Given the description of an element on the screen output the (x, y) to click on. 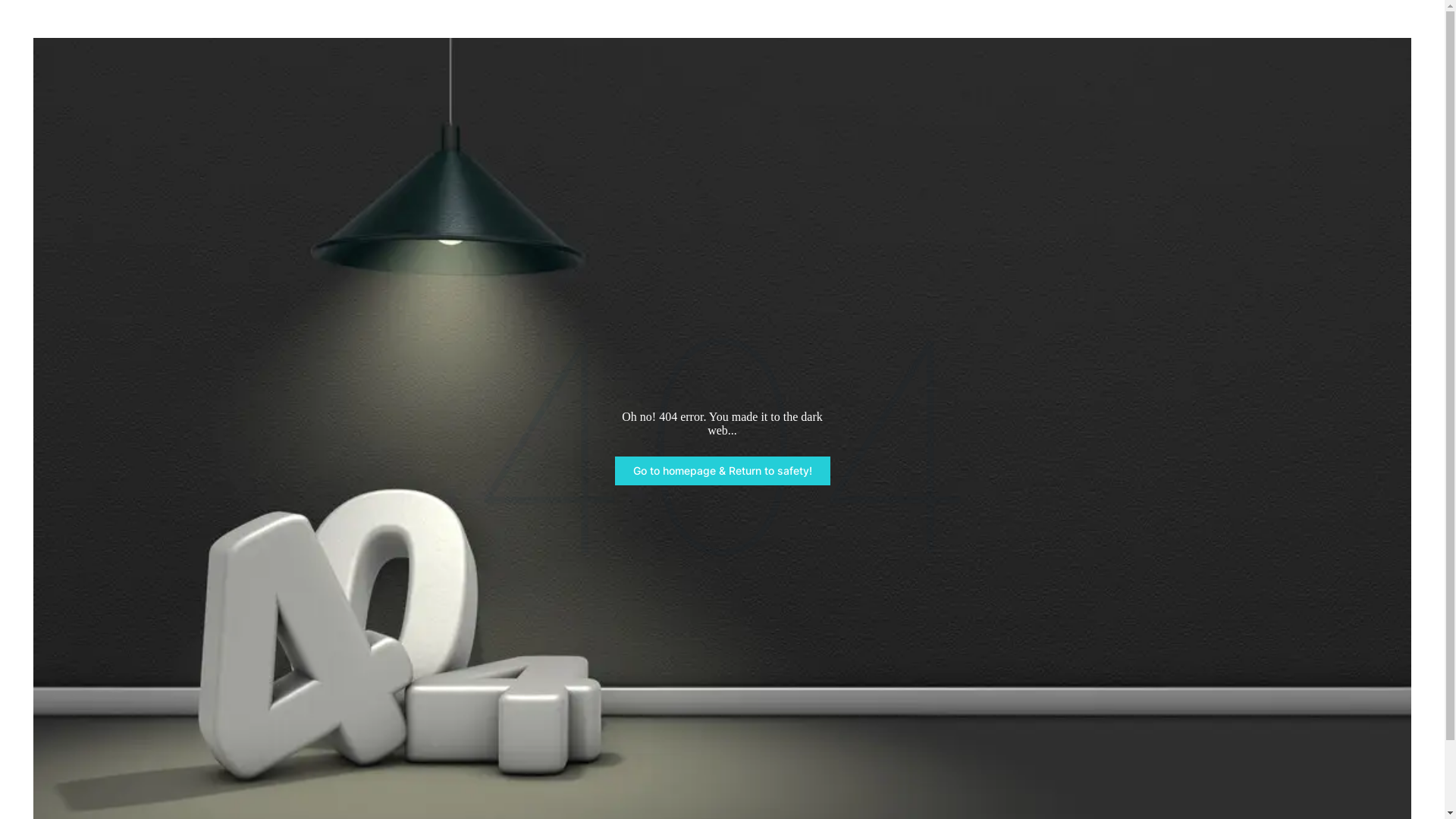
Go to homepage & Return to safety! Element type: text (721, 470)
